Given the description of an element on the screen output the (x, y) to click on. 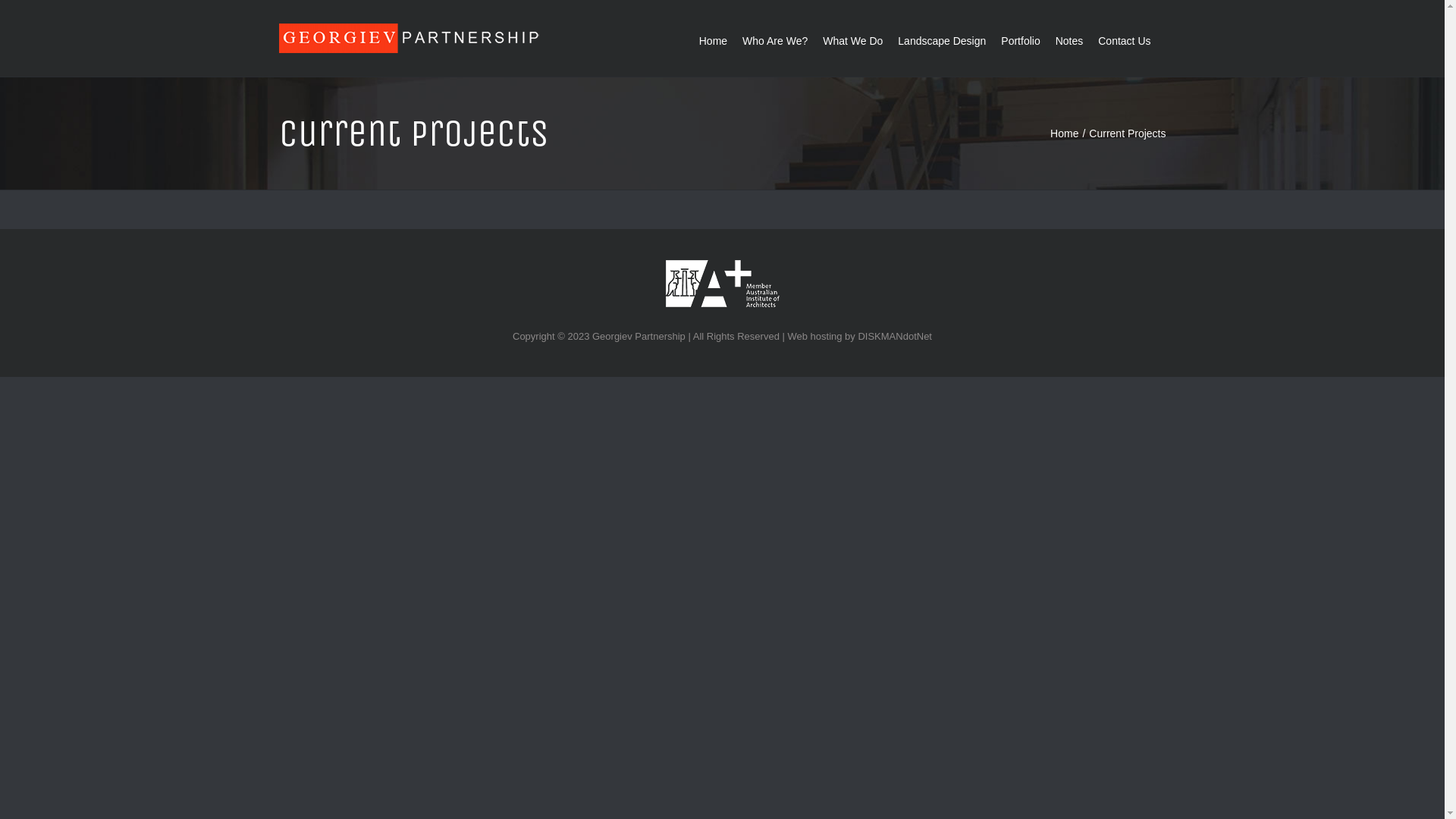
DISKMANdotNet Element type: text (894, 336)
Who Are We? Element type: text (774, 39)
Portfolio Element type: text (1020, 39)
Contact Us Element type: text (1124, 39)
What We Do Element type: text (852, 39)
Landscape Design Element type: text (941, 39)
Home Element type: text (713, 39)
Home Element type: text (1064, 133)
Notes Element type: text (1069, 39)
